Given the description of an element on the screen output the (x, y) to click on. 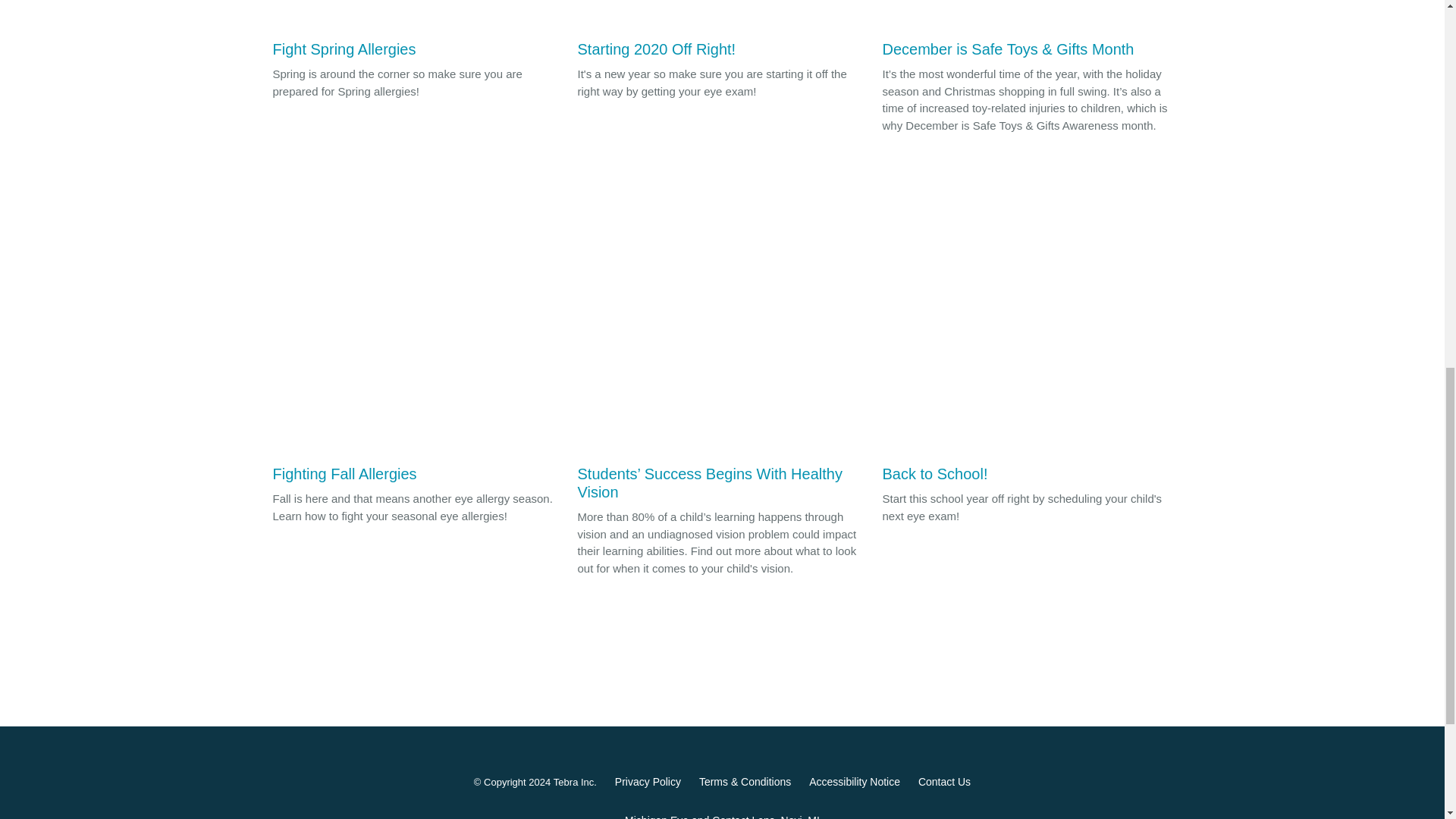
Starting 2020 Off Right! (722, 33)
Fight Spring Allergies (417, 33)
Fighting Fall Allergies (417, 384)
